Given the description of an element on the screen output the (x, y) to click on. 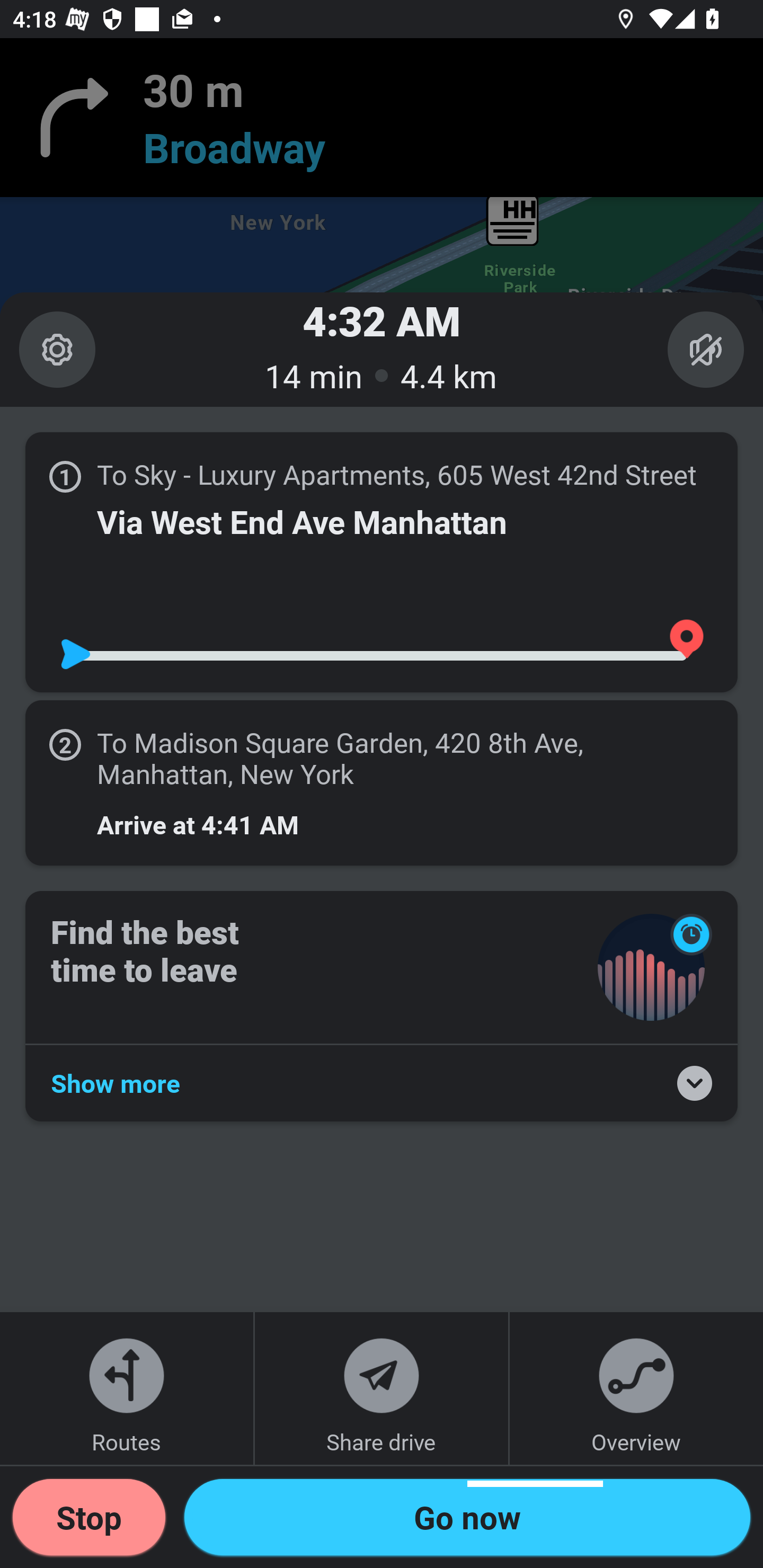
30 m Broadway (381, 117)
4:32 AM 14 min 4.4 km (381, 348)
Find the best time to leave Show more (381, 1005)
Routes (126, 1388)
Share drive (381, 1388)
Overview (636, 1388)
Stop (88, 1516)
ETA_DRAWER_GO_BUTTON Go now (466, 1516)
